Given the description of an element on the screen output the (x, y) to click on. 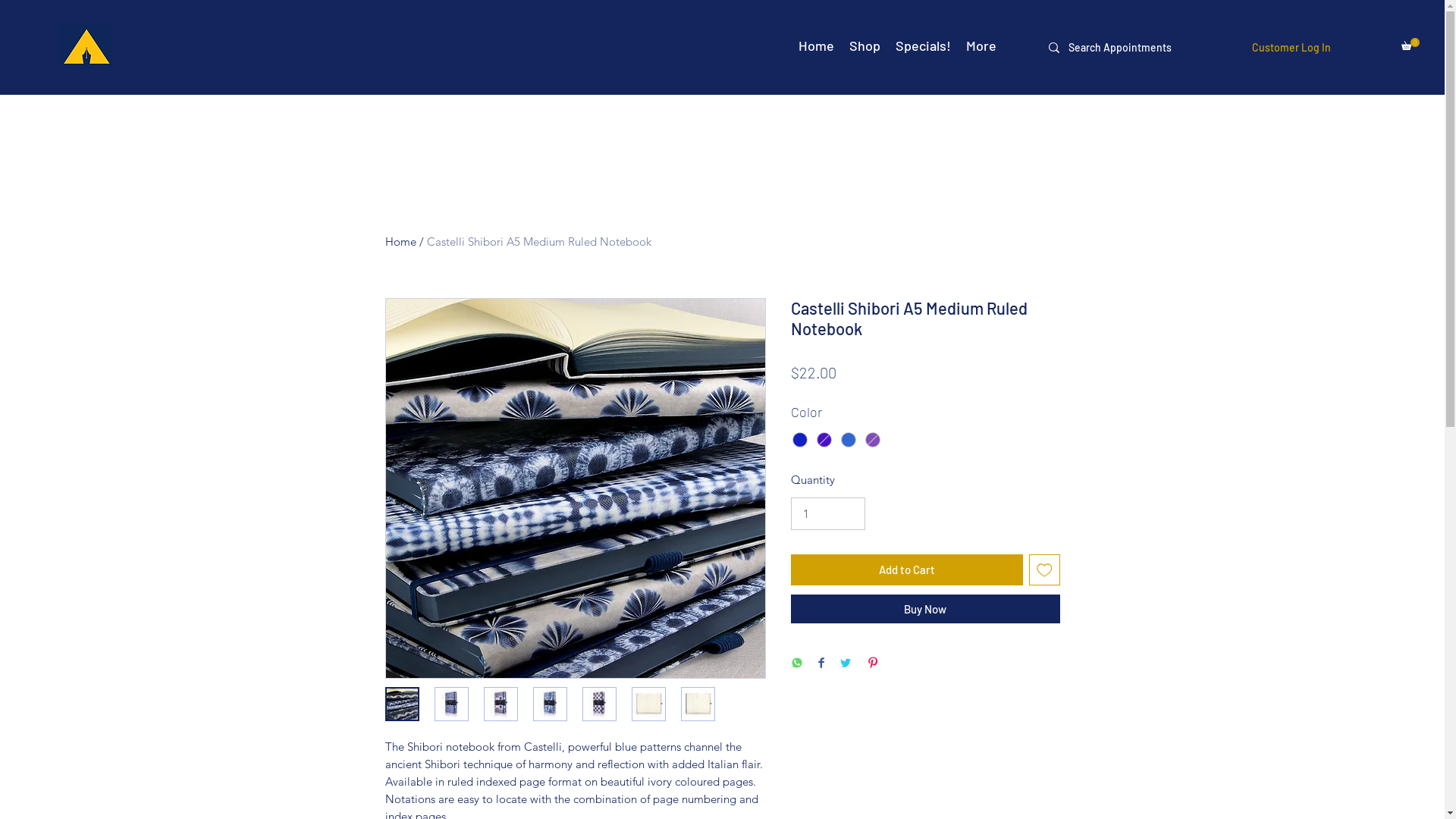
Home Element type: text (400, 241)
Shop Element type: text (864, 45)
Add to Cart Element type: text (906, 569)
Castelli Shibori A5 Medium Ruled Notebook Element type: text (538, 241)
Customer Log In Element type: text (1291, 47)
Home Element type: text (815, 45)
0 Element type: text (1410, 43)
Specials! Element type: text (923, 45)
Buy Now Element type: text (924, 608)
